Given the description of an element on the screen output the (x, y) to click on. 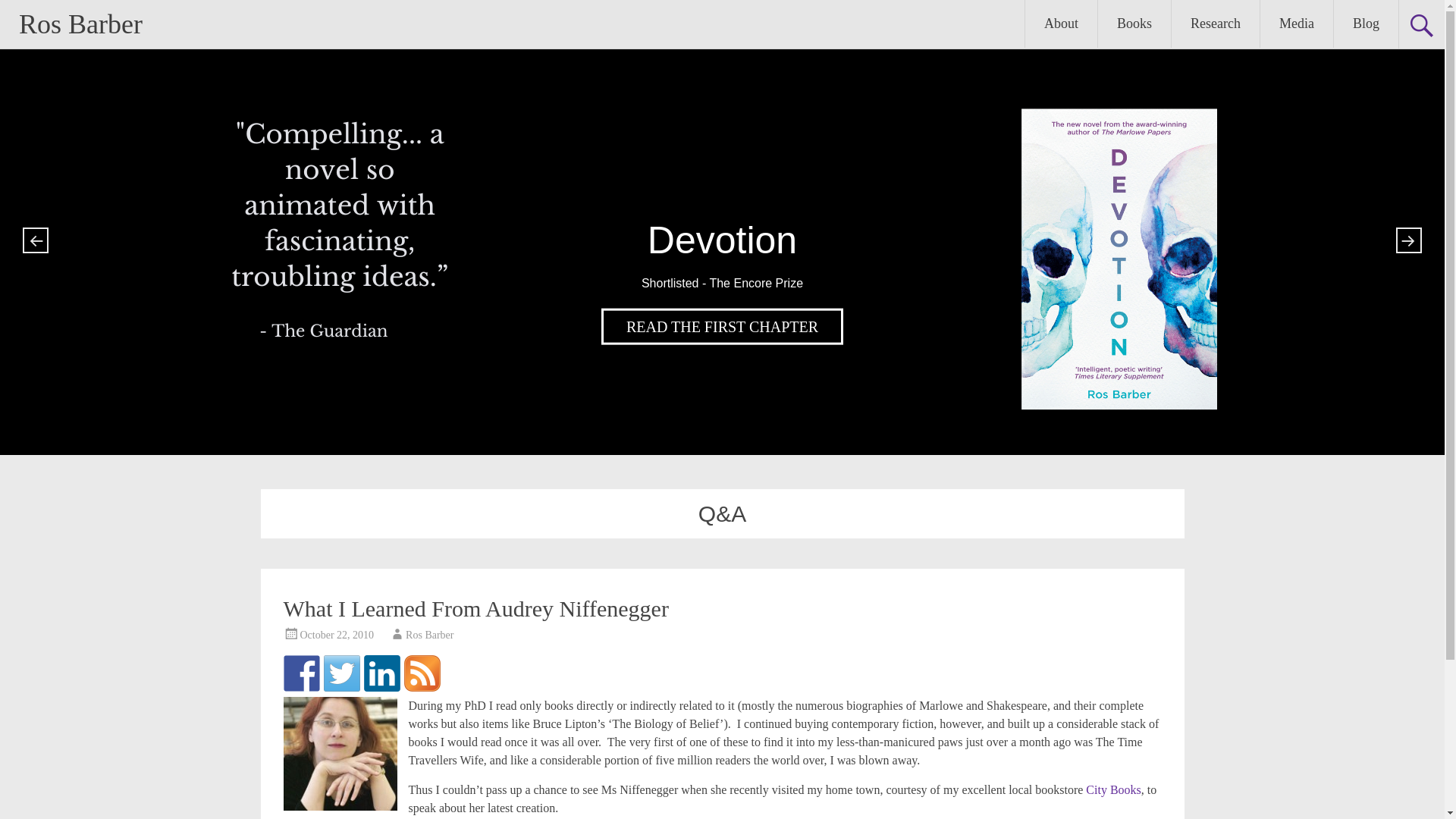
Ros Barber (429, 634)
Follow me on Twitter (341, 673)
Ros Barber (80, 24)
What I Learned From Audrey Niffenegger (475, 608)
October 22, 2010 (336, 634)
Subscribe to my RSS feed (421, 673)
City Books (1113, 789)
Devotion (722, 326)
Audrey Niffenegger (340, 753)
Follow me on Facebook (301, 673)
Find me on Linked in (382, 673)
Books (1133, 23)
Media (1296, 23)
Ros Barber (80, 24)
